Given the description of an element on the screen output the (x, y) to click on. 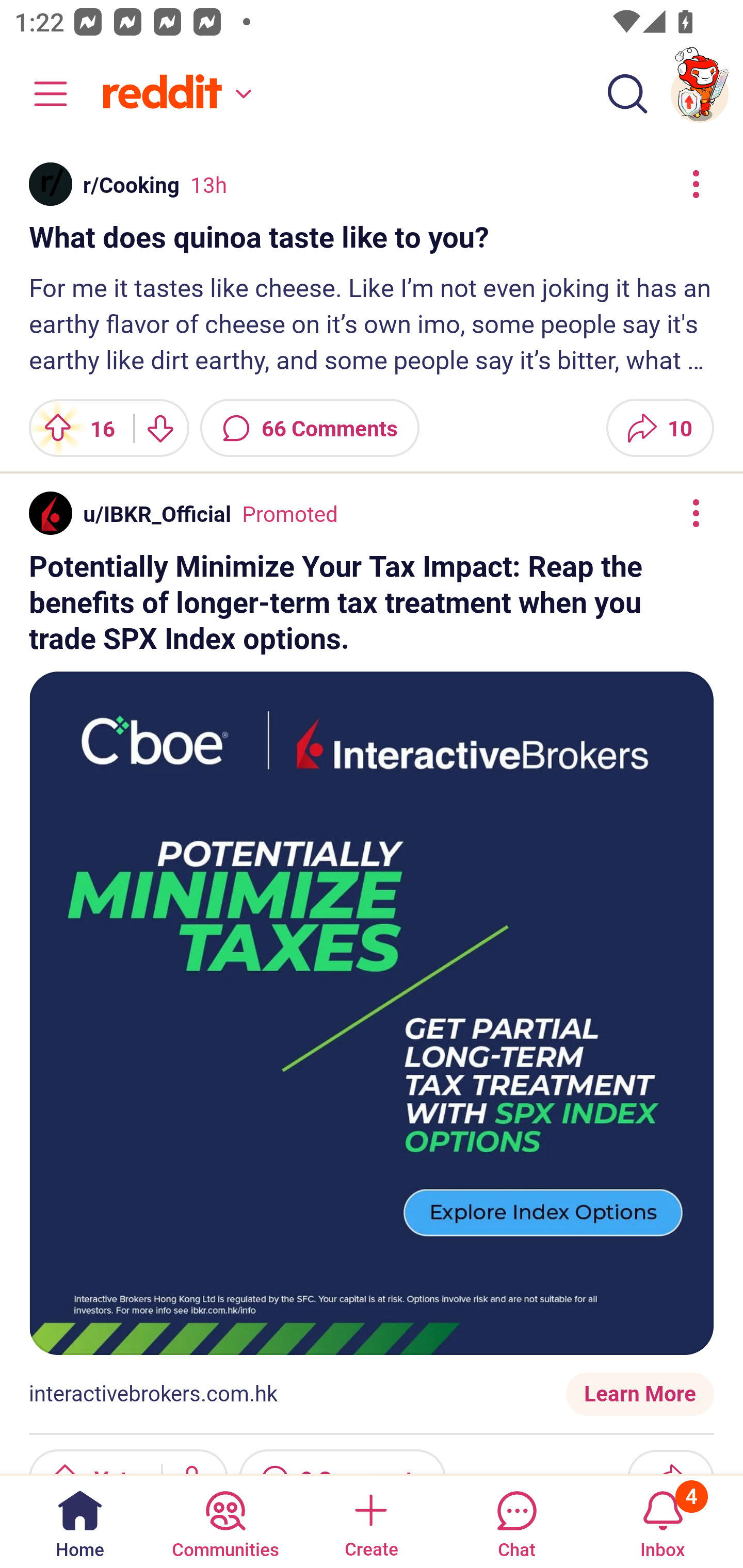
Search (626, 93)
TestAppium002 account (699, 93)
Community menu (41, 94)
Home feed (173, 94)
Home (80, 1520)
Communities (225, 1520)
Create a post Create (370, 1520)
Chat (516, 1520)
Inbox, has 4 notifications 4 Inbox (662, 1520)
